Given the description of an element on the screen output the (x, y) to click on. 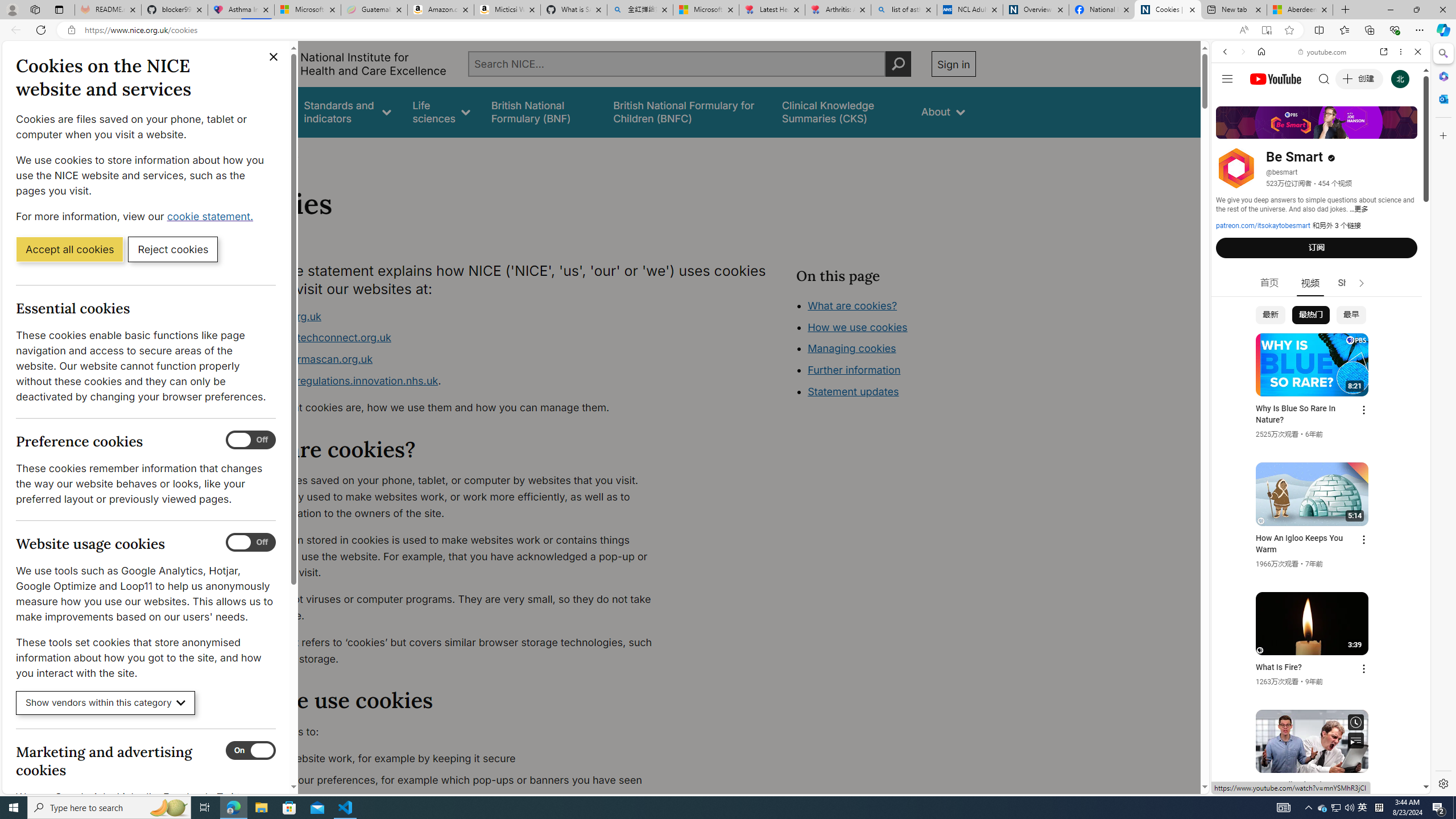
www.ukpharmascan.org.uk (452, 359)
you (1315, 755)
Website usage cookies (250, 542)
Further information (854, 369)
British National Formulary for Children (BNFC) (686, 111)
Class: in-page-nav__list (884, 349)
